Given the description of an element on the screen output the (x, y) to click on. 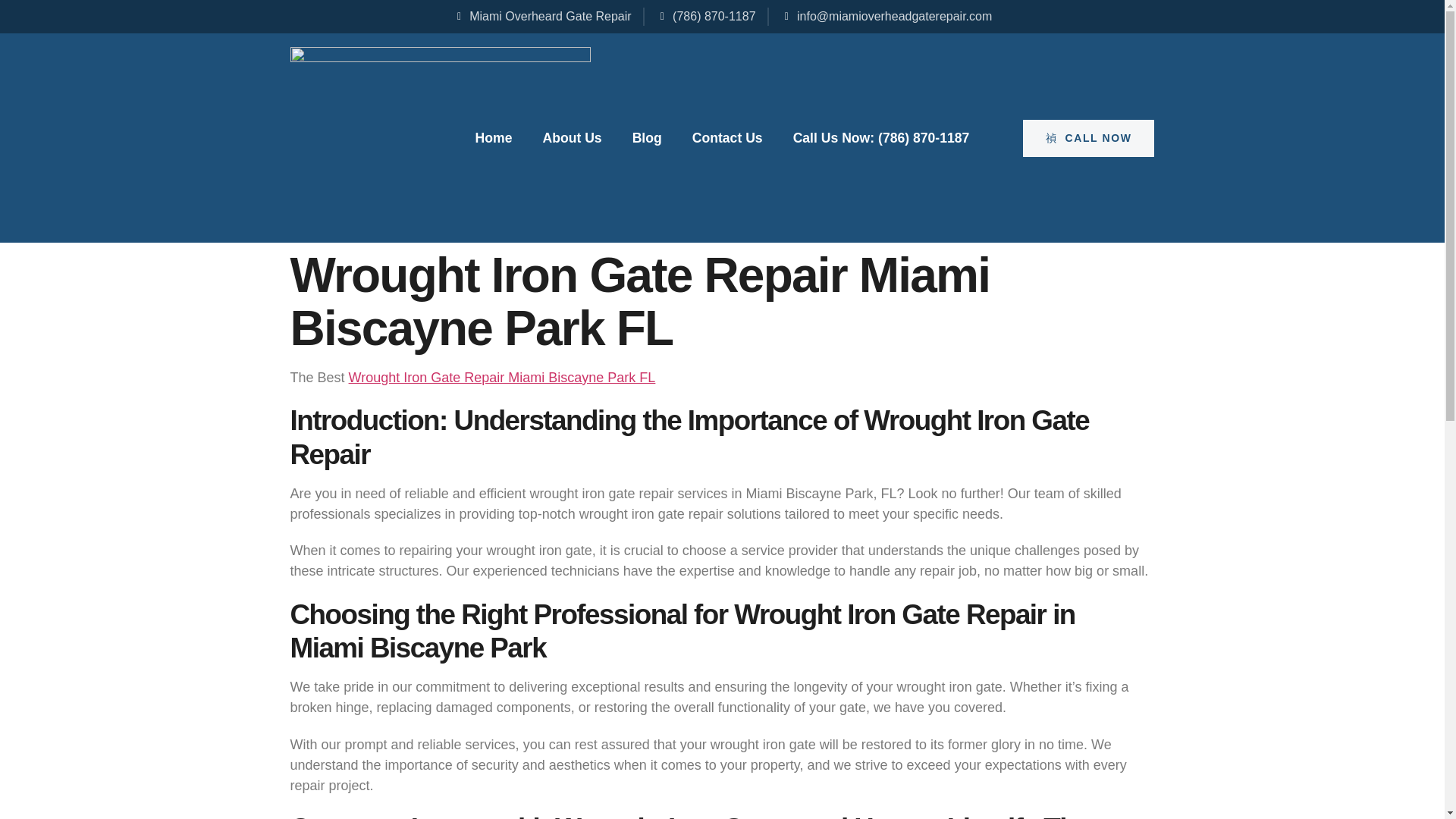
CALL NOW (1088, 138)
Contact Us (727, 138)
Miami Overheard Gate Repair (541, 16)
Wrought Iron Gate Repair Miami Biscayne Park FL (502, 377)
Home (494, 138)
About Us (571, 138)
